Given the description of an element on the screen output the (x, y) to click on. 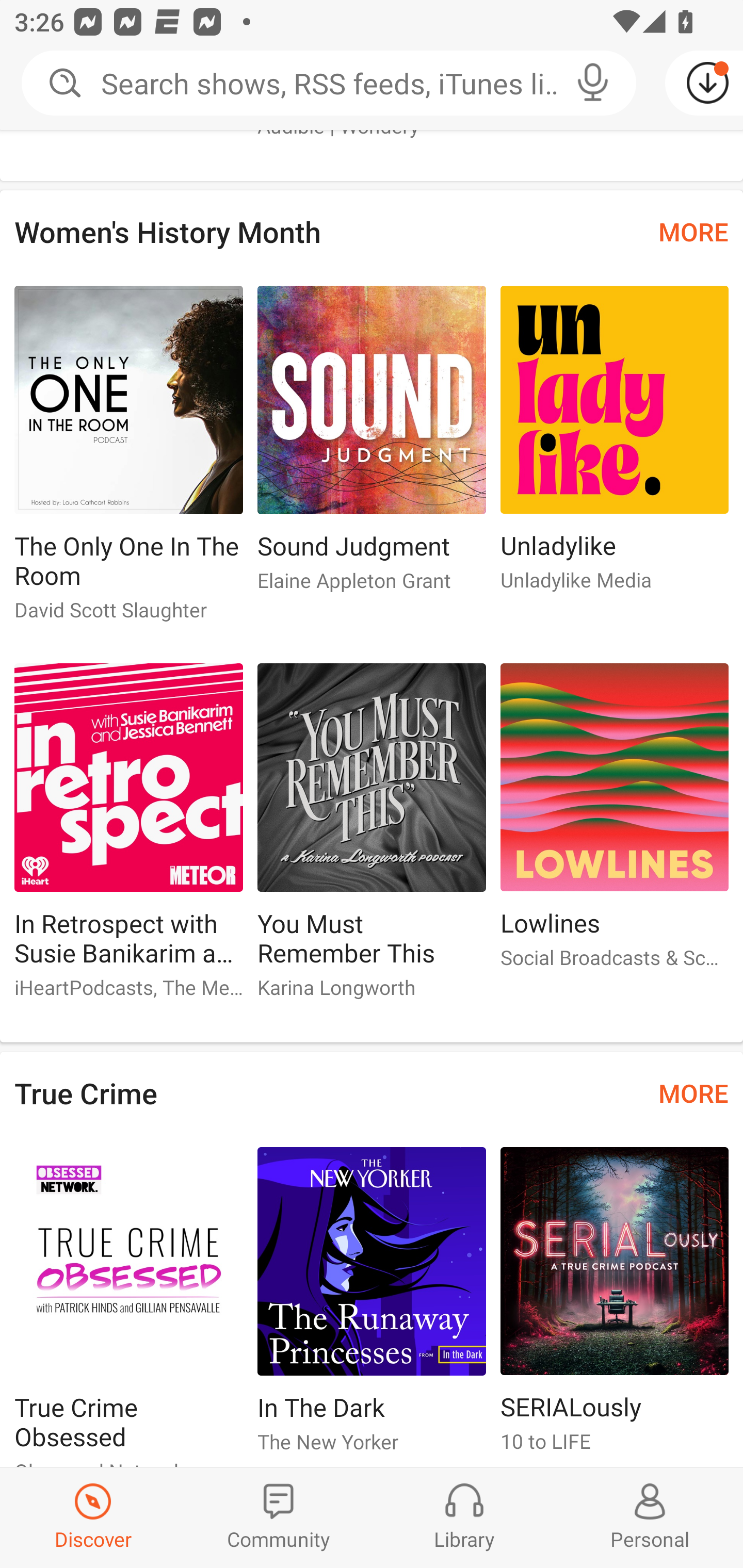
MORE (693, 231)
Unladylike Unladylike Unladylike Media (614, 446)
MORE (693, 1092)
In The Dark In The Dark The New Yorker (371, 1307)
SERIALously SERIALously 10 to LIFE (614, 1307)
Discover (92, 1517)
Community (278, 1517)
Library (464, 1517)
Profiles and Settings Personal (650, 1517)
